Given the description of an element on the screen output the (x, y) to click on. 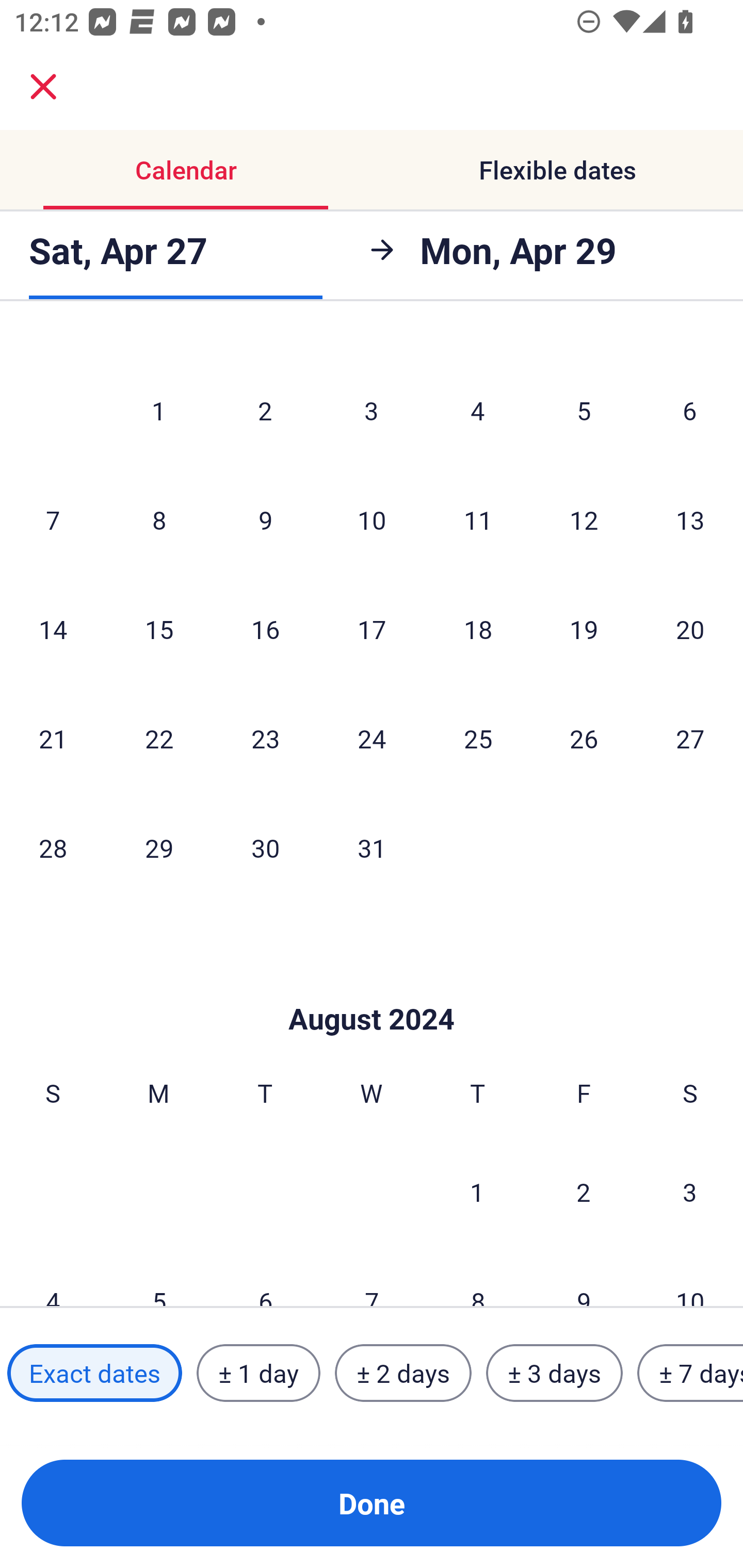
close. (43, 86)
Flexible dates (557, 170)
1 Monday, July 1, 2024 (158, 409)
2 Tuesday, July 2, 2024 (264, 409)
3 Wednesday, July 3, 2024 (371, 409)
4 Thursday, July 4, 2024 (477, 409)
5 Friday, July 5, 2024 (583, 409)
6 Saturday, July 6, 2024 (689, 409)
7 Sunday, July 7, 2024 (53, 519)
8 Monday, July 8, 2024 (159, 519)
9 Tuesday, July 9, 2024 (265, 519)
10 Wednesday, July 10, 2024 (371, 519)
11 Thursday, July 11, 2024 (477, 519)
12 Friday, July 12, 2024 (584, 519)
13 Saturday, July 13, 2024 (690, 519)
14 Sunday, July 14, 2024 (53, 628)
15 Monday, July 15, 2024 (159, 628)
16 Tuesday, July 16, 2024 (265, 628)
17 Wednesday, July 17, 2024 (371, 628)
18 Thursday, July 18, 2024 (477, 628)
19 Friday, July 19, 2024 (584, 628)
20 Saturday, July 20, 2024 (690, 628)
21 Sunday, July 21, 2024 (53, 738)
22 Monday, July 22, 2024 (159, 738)
23 Tuesday, July 23, 2024 (265, 738)
24 Wednesday, July 24, 2024 (371, 738)
25 Thursday, July 25, 2024 (477, 738)
26 Friday, July 26, 2024 (584, 738)
27 Saturday, July 27, 2024 (690, 738)
28 Sunday, July 28, 2024 (53, 847)
29 Monday, July 29, 2024 (159, 847)
30 Tuesday, July 30, 2024 (265, 847)
31 Wednesday, July 31, 2024 (371, 847)
Skip to Done (371, 988)
1 Thursday, August 1, 2024 (477, 1191)
2 Friday, August 2, 2024 (583, 1191)
3 Saturday, August 3, 2024 (689, 1191)
Exact dates (94, 1372)
± 1 day (258, 1372)
± 2 days (403, 1372)
± 3 days (553, 1372)
± 7 days (690, 1372)
Done (371, 1502)
